Given the description of an element on the screen output the (x, y) to click on. 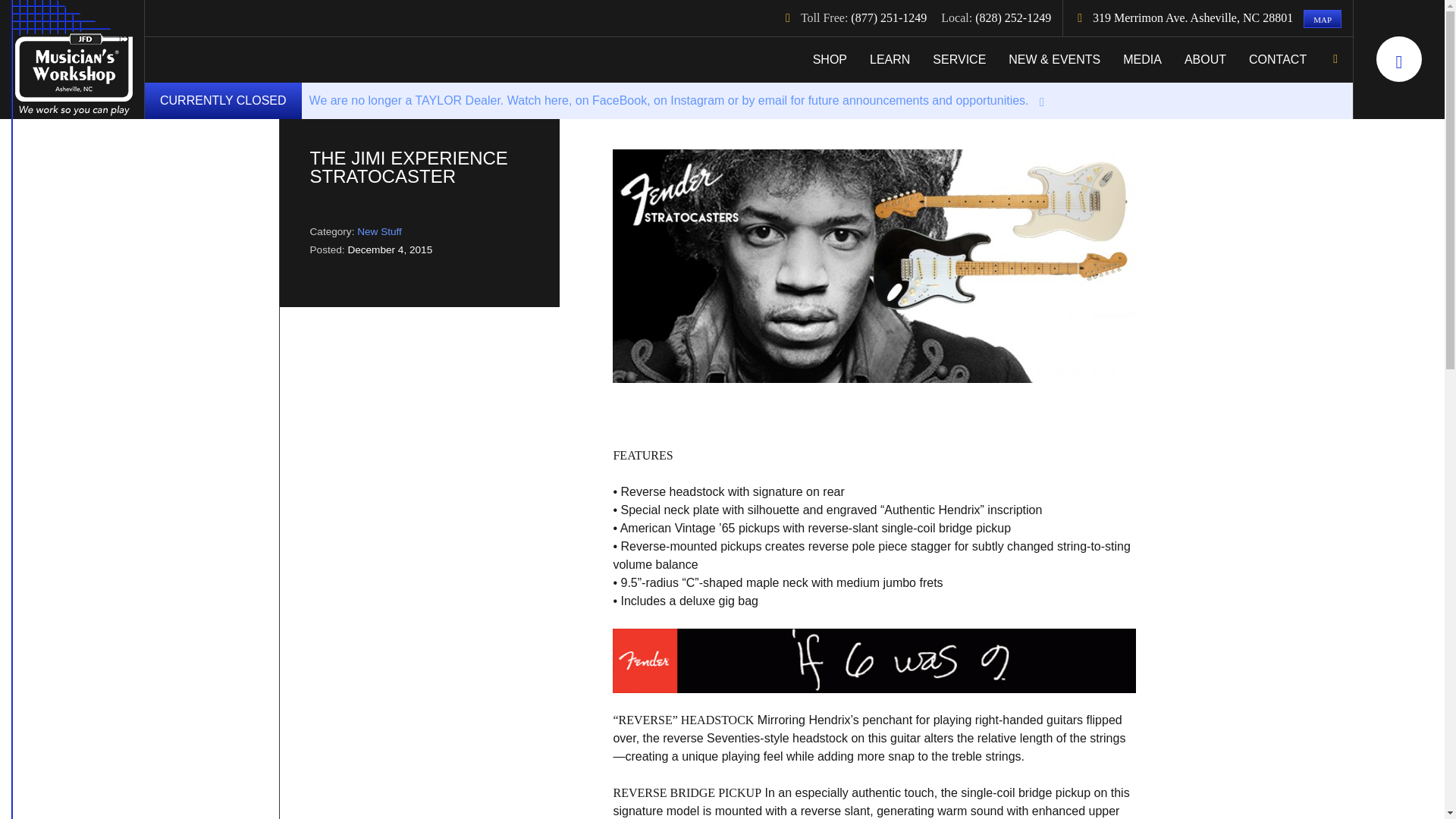
ABOUT (1205, 59)
CONTACT (1277, 59)
View your shopping cart (1398, 58)
SHOP (830, 59)
LEARN (890, 59)
New Stuff (378, 231)
Shopping Cart (1398, 58)
MEDIA (1142, 59)
